Given the description of an element on the screen output the (x, y) to click on. 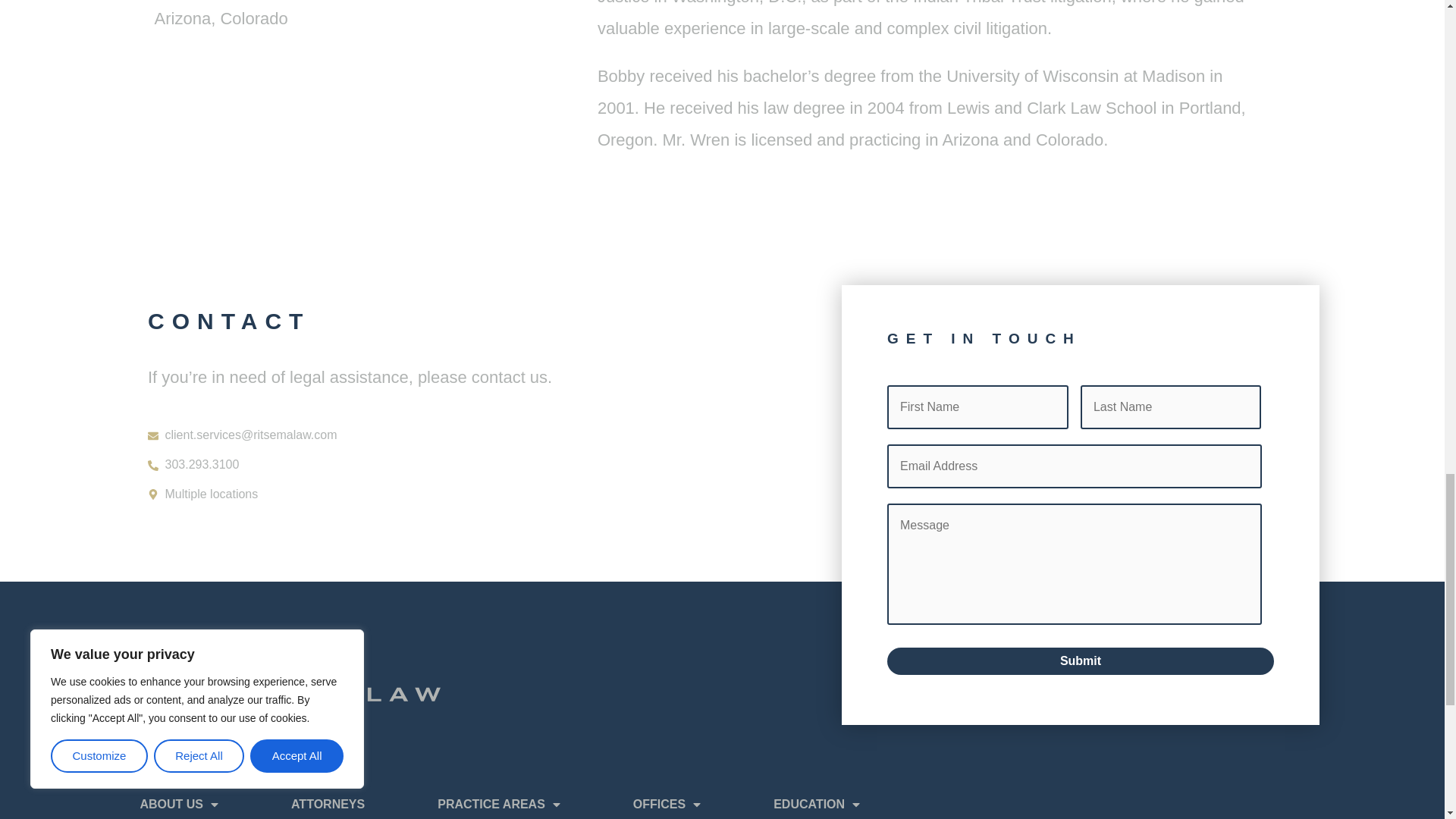
Submit (1080, 660)
